Given the description of an element on the screen output the (x, y) to click on. 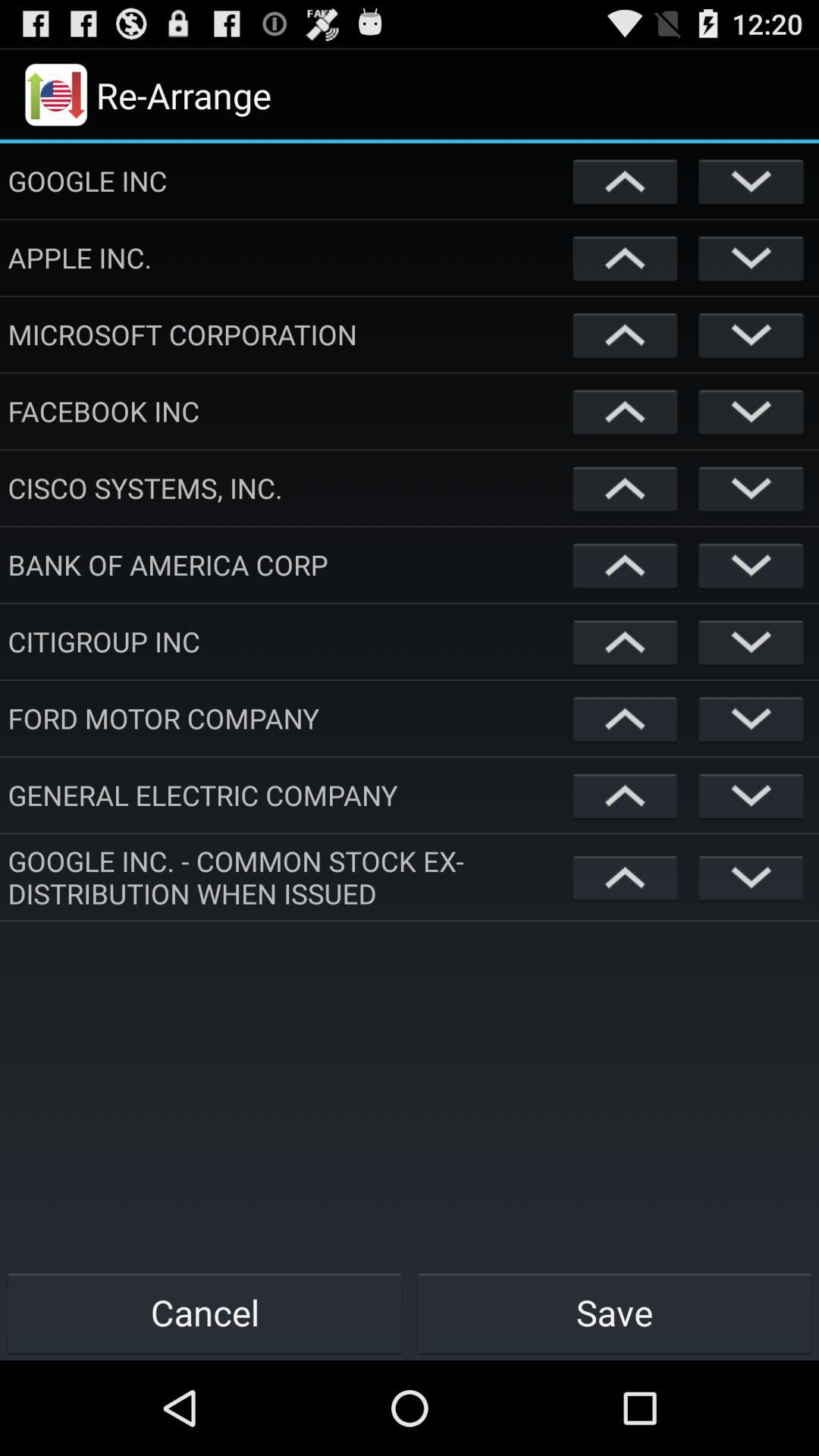
flip until cancel (204, 1312)
